Given the description of an element on the screen output the (x, y) to click on. 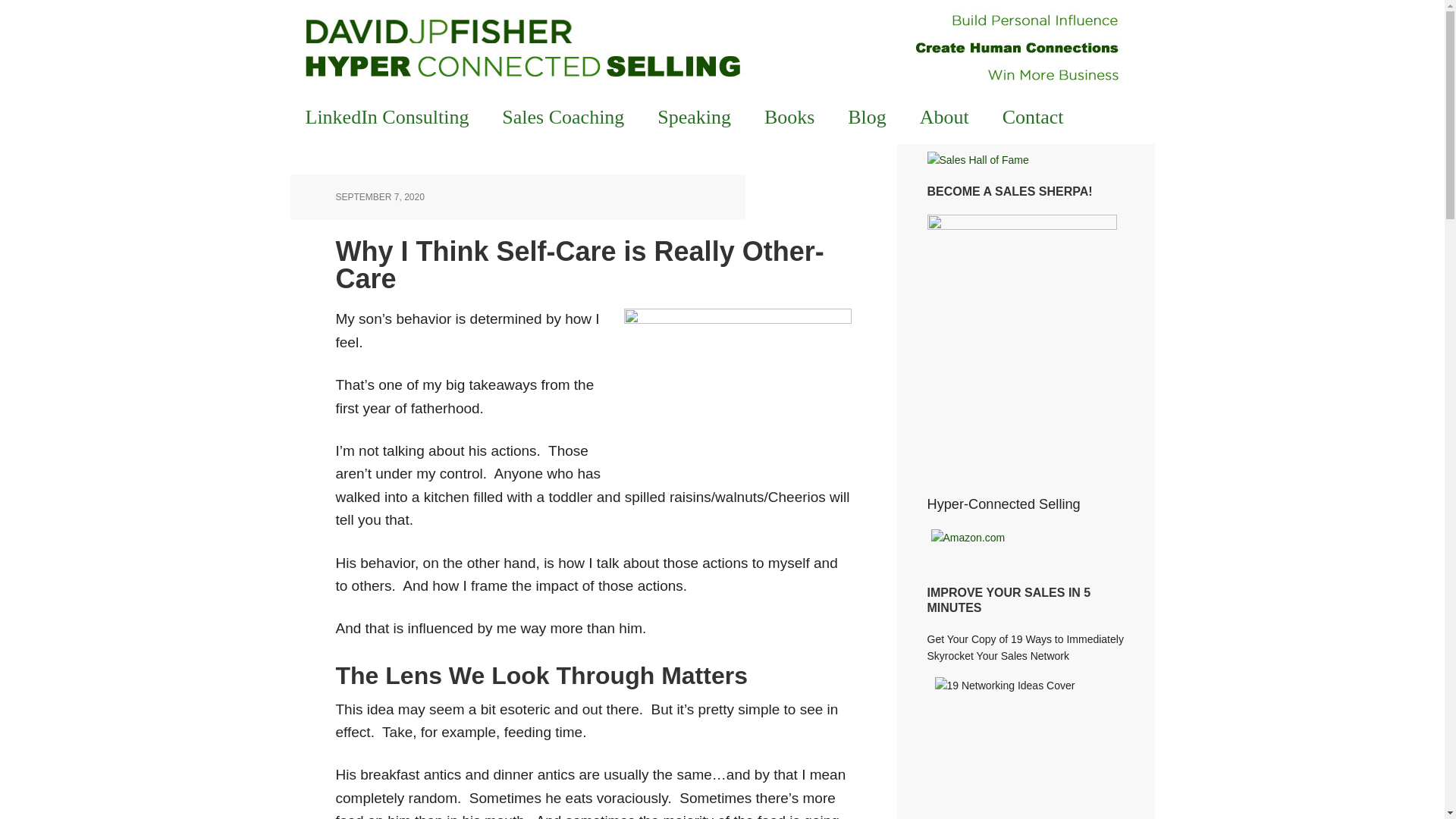
Sales Coaching (562, 117)
Books (789, 117)
Contact (1032, 117)
About (944, 117)
Speaking (693, 117)
LinkedIn Consulting (386, 117)
Blog (866, 117)
